Given the description of an element on the screen output the (x, y) to click on. 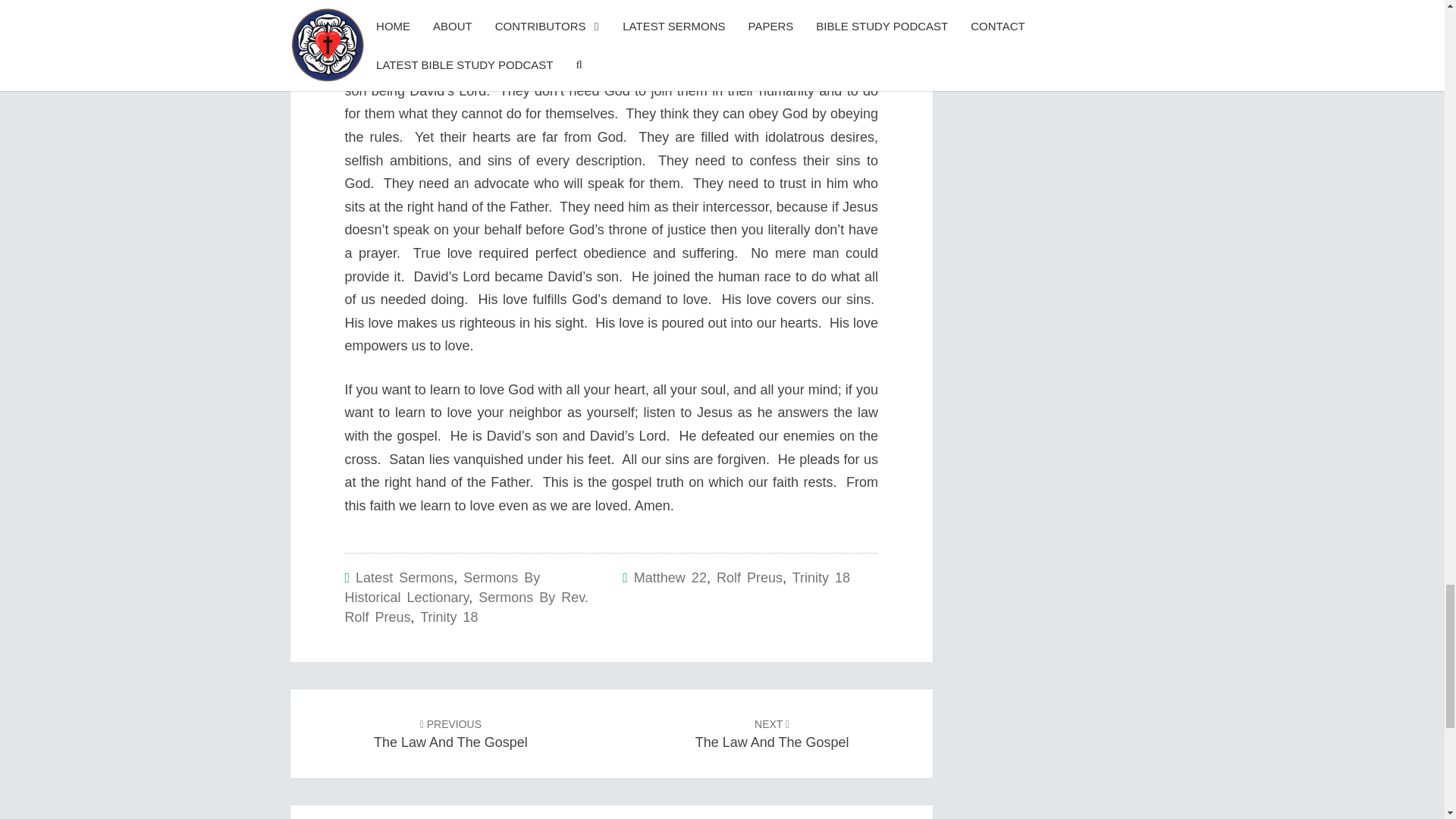
Trinity 18 (448, 616)
Rolf Preus (749, 577)
Matthew 22 (669, 577)
Sermons By Historical Lectionary (441, 587)
Sermons By Rev. Rolf Preus (450, 733)
Trinity 18 (465, 606)
Latest Sermons (821, 577)
